Given the description of an element on the screen output the (x, y) to click on. 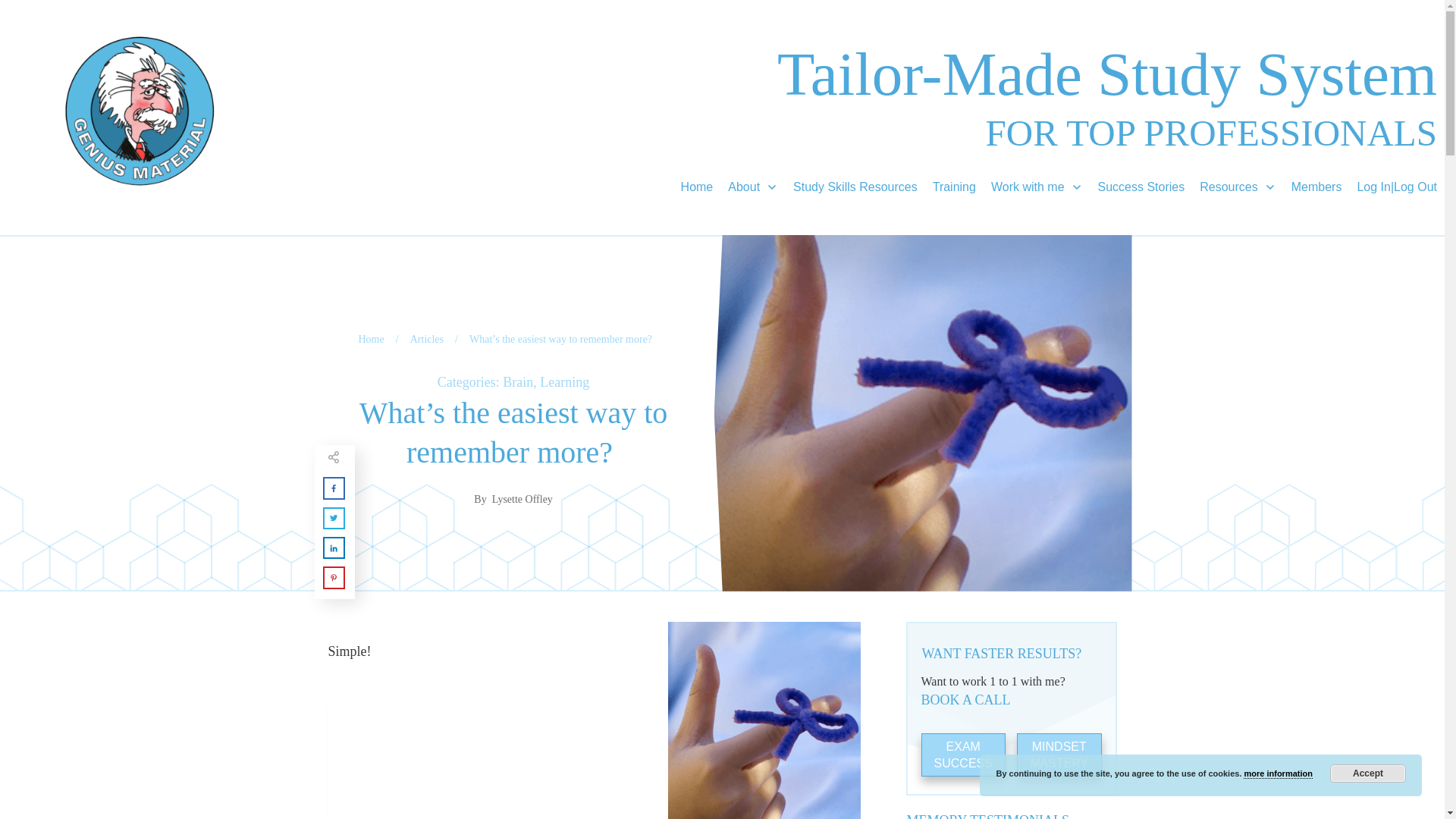
Learning (564, 381)
Training (954, 187)
Brain (517, 381)
Resources (1237, 187)
Work with me (1037, 187)
Genius Material logo (139, 111)
Success Stories (1141, 187)
Members (1316, 187)
Home (371, 339)
Home (697, 187)
About (752, 187)
Study Skills Resources (855, 187)
Learning (564, 381)
Articles (427, 339)
Brain (517, 381)
